Given the description of an element on the screen output the (x, y) to click on. 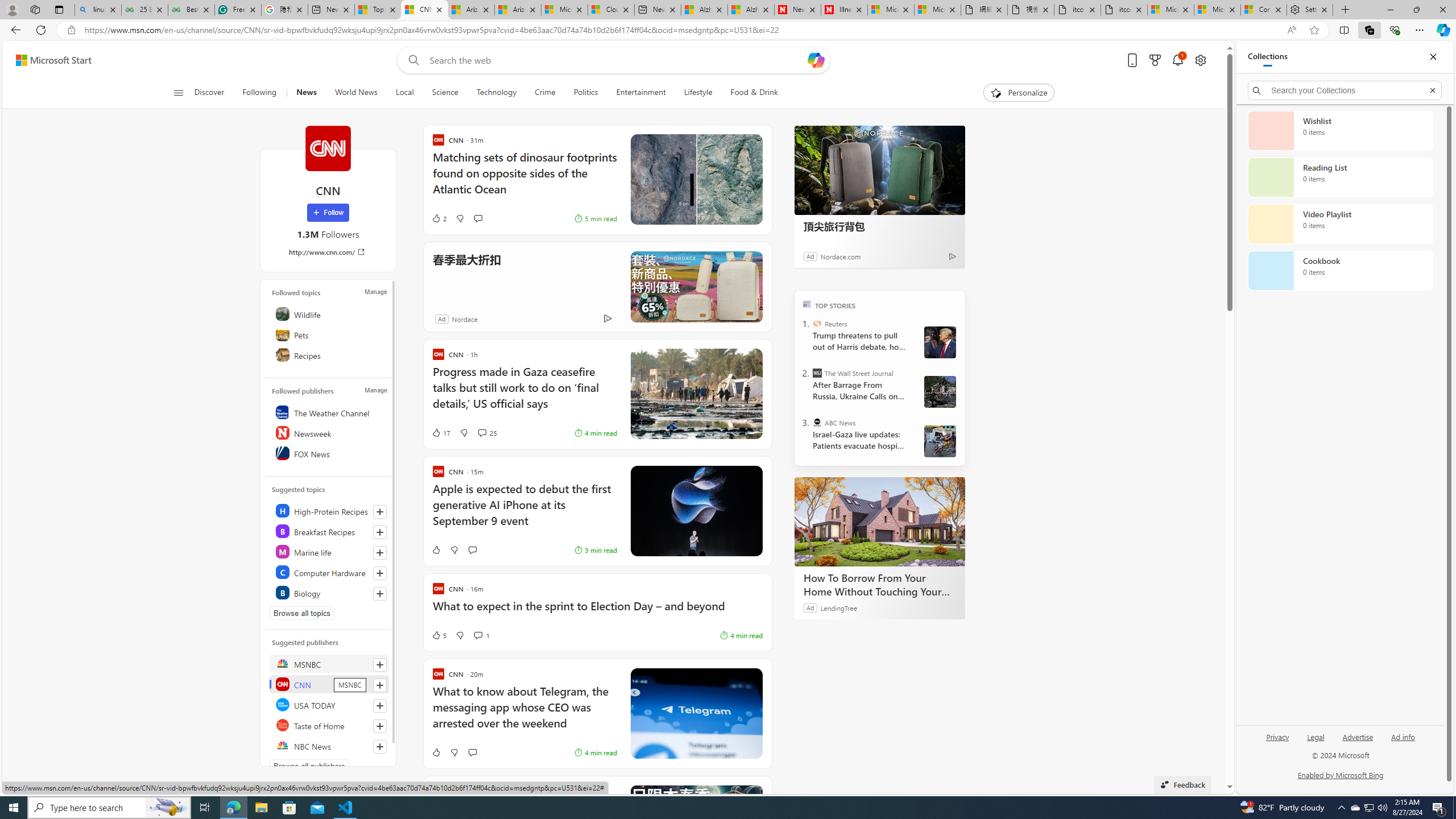
MSNBC (328, 663)
Browse all topics (301, 612)
2 Like (438, 218)
Newsweek - News, Analysis, Politics, Business, Technology (797, 9)
